Given the description of an element on the screen output the (x, y) to click on. 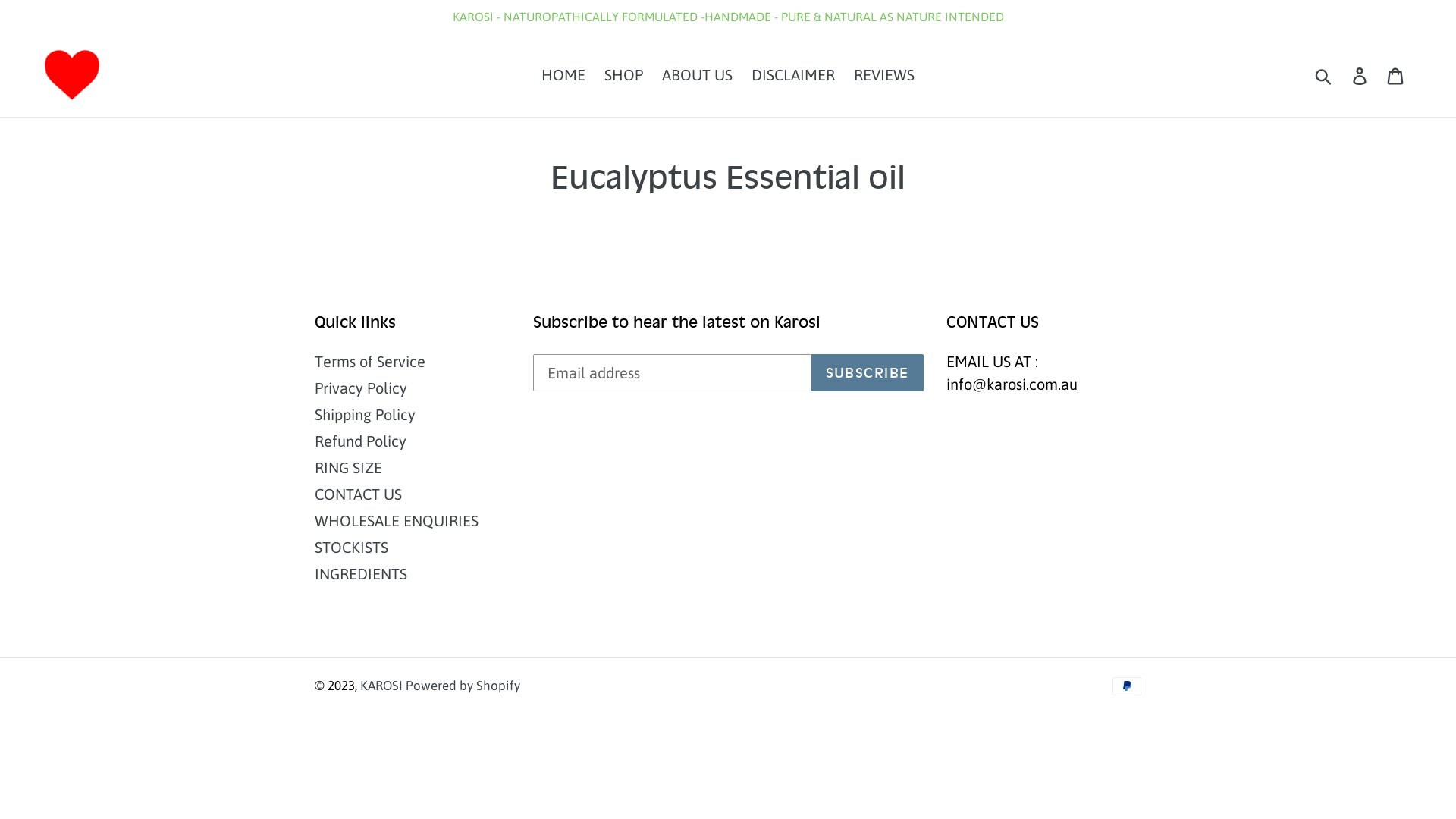
KAROSI Element type: text (382, 685)
Cart Element type: text (1396, 75)
Powered by Shopify Element type: text (462, 685)
CONTACT US Element type: text (357, 493)
WHOLESALE ENQUIRIES Element type: text (396, 520)
SHOP Element type: text (623, 74)
Terms of Service Element type: text (369, 361)
STOCKISTS Element type: text (351, 546)
Refund Policy Element type: text (360, 440)
Log in Element type: text (1360, 75)
HOME Element type: text (563, 74)
DISCLAIMER Element type: text (792, 74)
INGREDIENTS Element type: text (360, 573)
REVIEWS Element type: text (884, 74)
ABOUT US Element type: text (697, 74)
SUBSCRIBE Element type: text (867, 372)
RING SIZE Element type: text (348, 467)
Privacy Policy Element type: text (360, 387)
Shipping Policy Element type: text (364, 414)
Submit Element type: text (1324, 74)
